Given the description of an element on the screen output the (x, y) to click on. 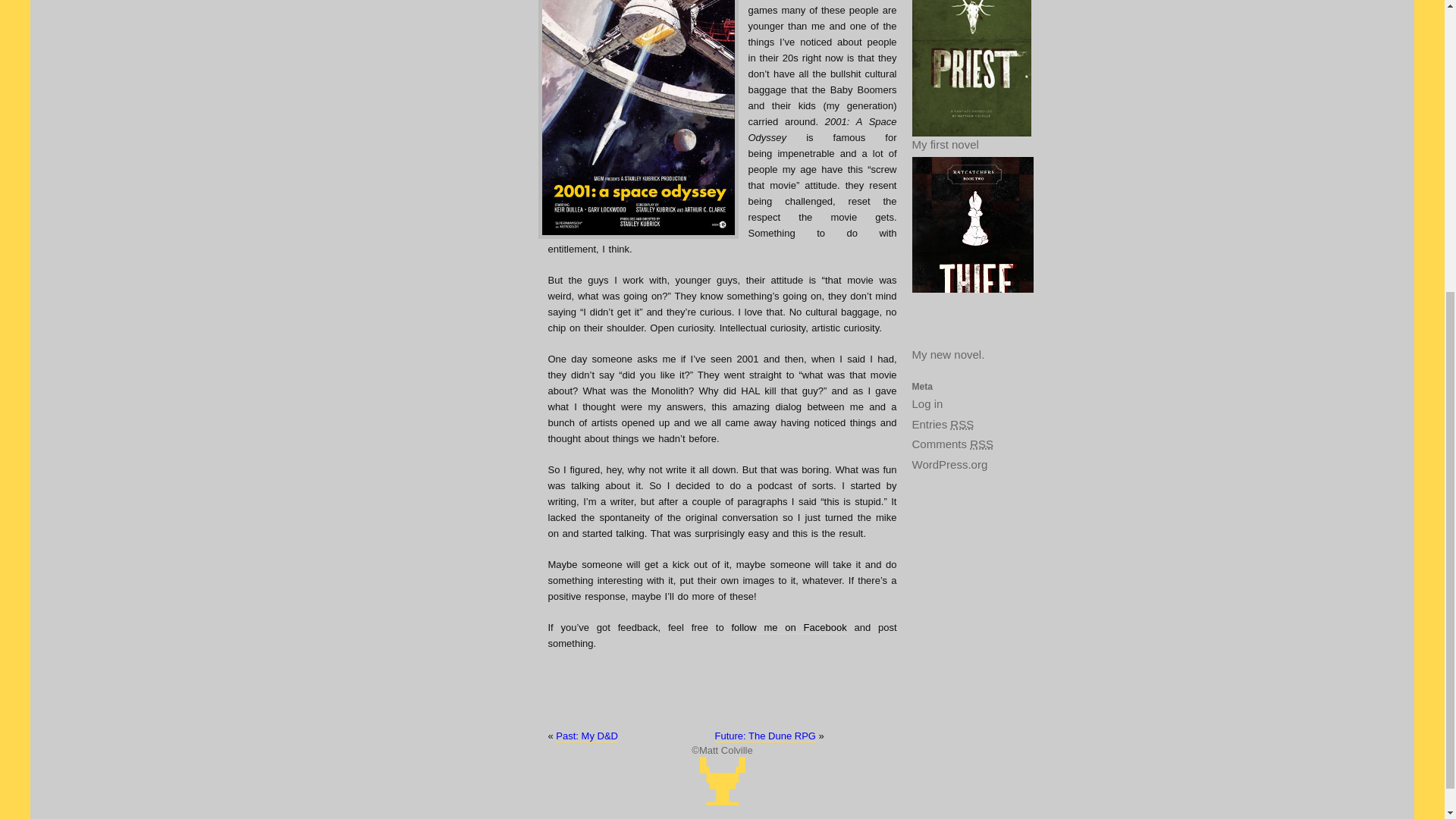
WordPress.org (964, 465)
Comments RSS (964, 444)
Entries RSS (964, 424)
Really Simple Syndication (980, 443)
Really Simple Syndication (962, 422)
Future: The Dune RPG (764, 735)
follow me on Facebook (787, 627)
Log in (964, 403)
